Given the description of an element on the screen output the (x, y) to click on. 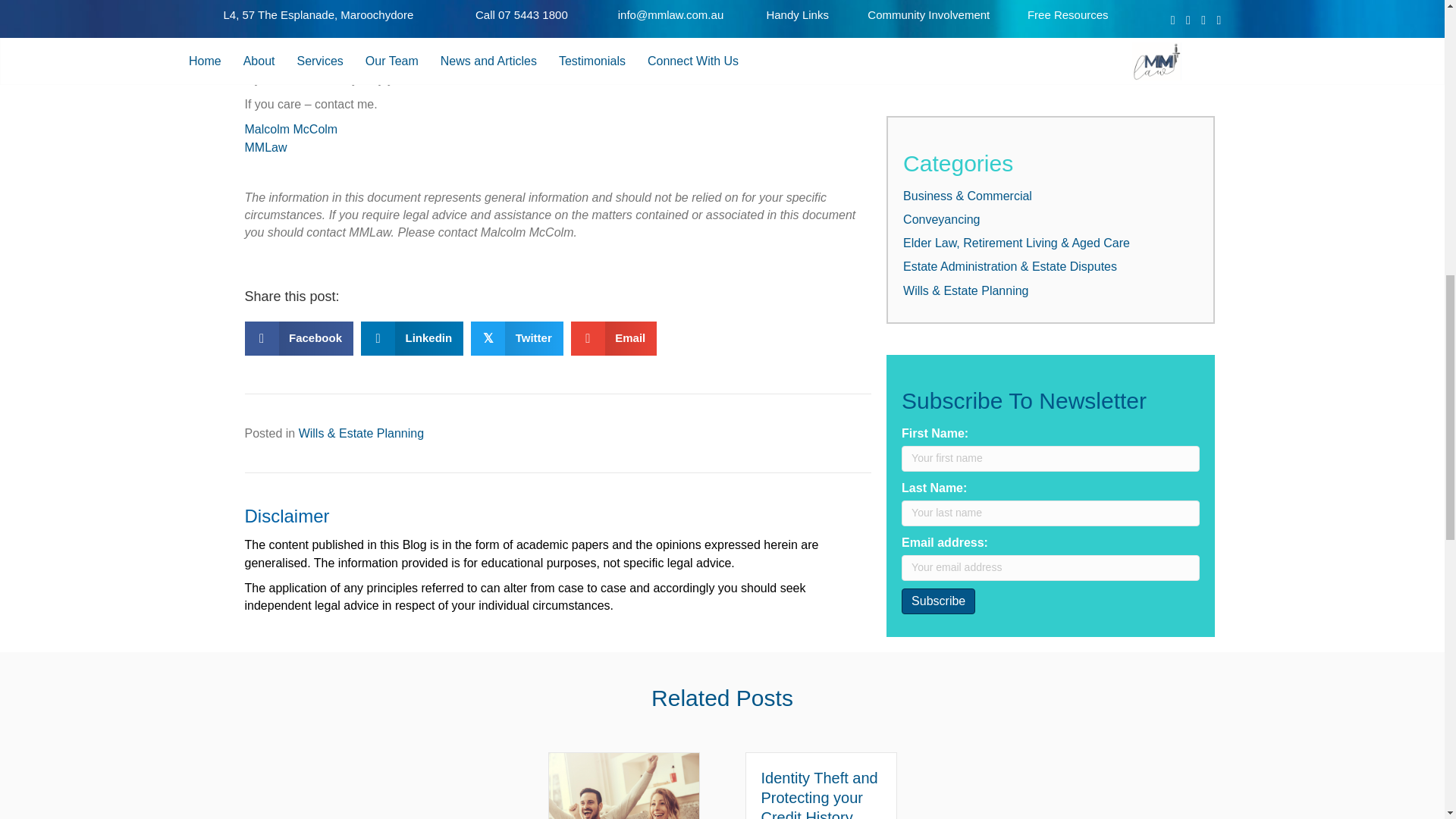
Subscribe (938, 600)
Identity Theft and Protecting your Credit History (819, 794)
